Given the description of an element on the screen output the (x, y) to click on. 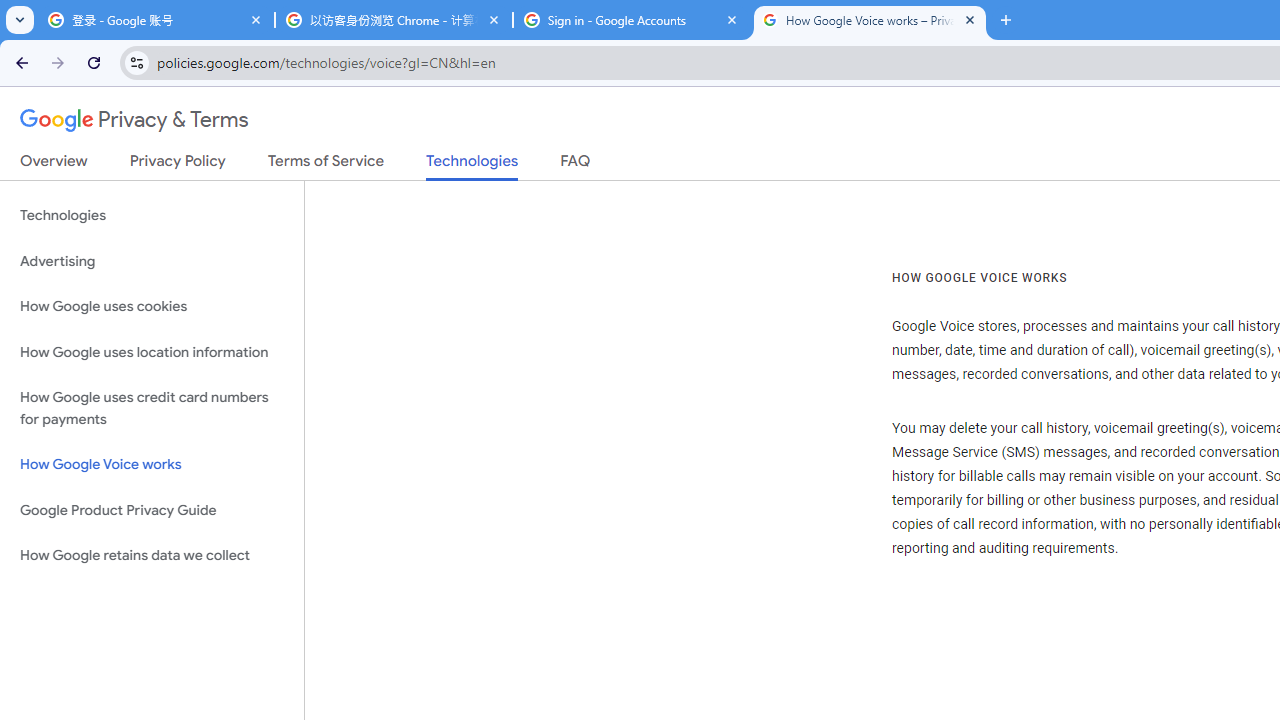
How Google uses credit card numbers for payments (152, 408)
How Google retains data we collect (152, 555)
How Google uses location information (152, 352)
Sign in - Google Accounts (632, 20)
